Given the description of an element on the screen output the (x, y) to click on. 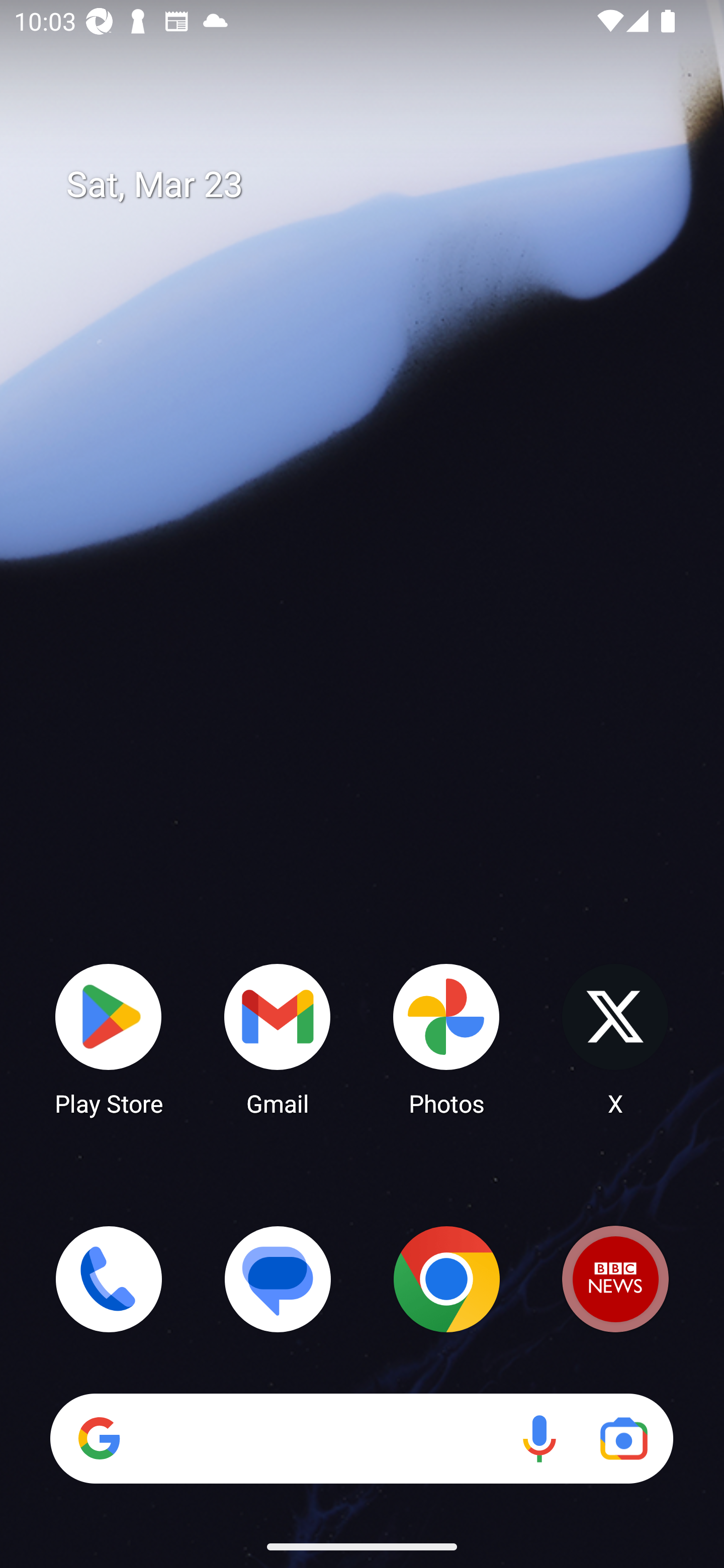
Sat, Mar 23 (375, 184)
Play Store (108, 1038)
Gmail (277, 1038)
Photos (445, 1038)
X (615, 1038)
Phone (108, 1279)
Messages (277, 1279)
Chrome (446, 1279)
BBC News Predicted app: BBC News (615, 1279)
Voice search (539, 1438)
Google Lens (623, 1438)
